Given the description of an element on the screen output the (x, y) to click on. 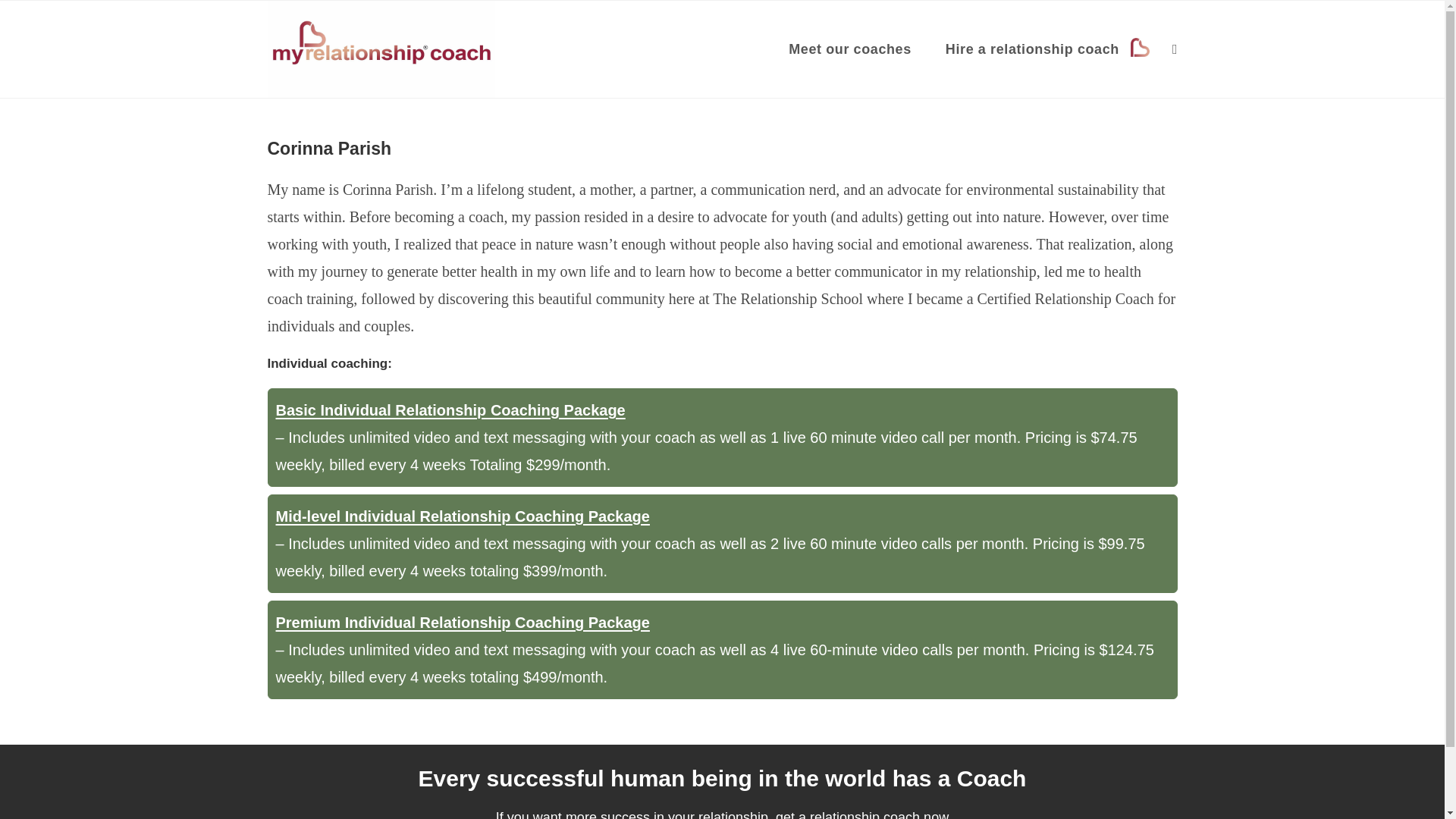
Meet our coaches (855, 48)
Hire a relationship coach (1047, 48)
